Given the description of an element on the screen output the (x, y) to click on. 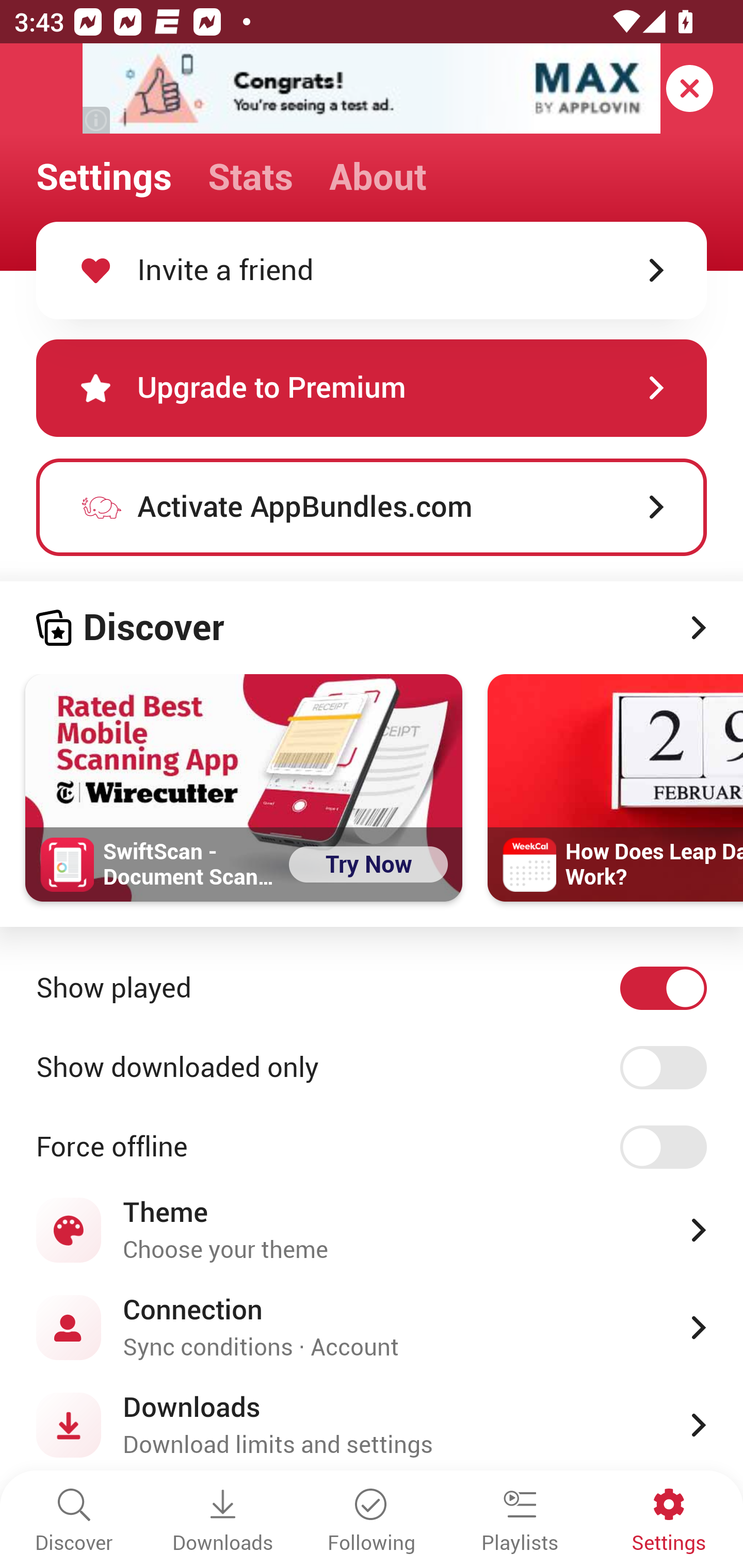
app-monetization (371, 88)
(i) (96, 119)
Settings (103, 177)
Stats (250, 177)
About (377, 177)
Invite a friend (371, 270)
Upgrade to Premium (371, 387)
Activate AppBundles.com (371, 506)
Discover (371, 627)
SwiftScan - Document Scanner & PDF Editor Try Now (243, 787)
How Does Leap Day Work?  (615, 787)
Try Now (368, 864)
Show played (371, 987)
Show downloaded only (371, 1067)
Force offline (371, 1147)
Theme Choose your theme (371, 1229)
Connection Sync conditions · Account (371, 1327)
Downloads Download limits and settings (371, 1425)
Discover (74, 1521)
Downloads (222, 1521)
Following (371, 1521)
Playlists (519, 1521)
Settings (668, 1521)
